Given the description of an element on the screen output the (x, y) to click on. 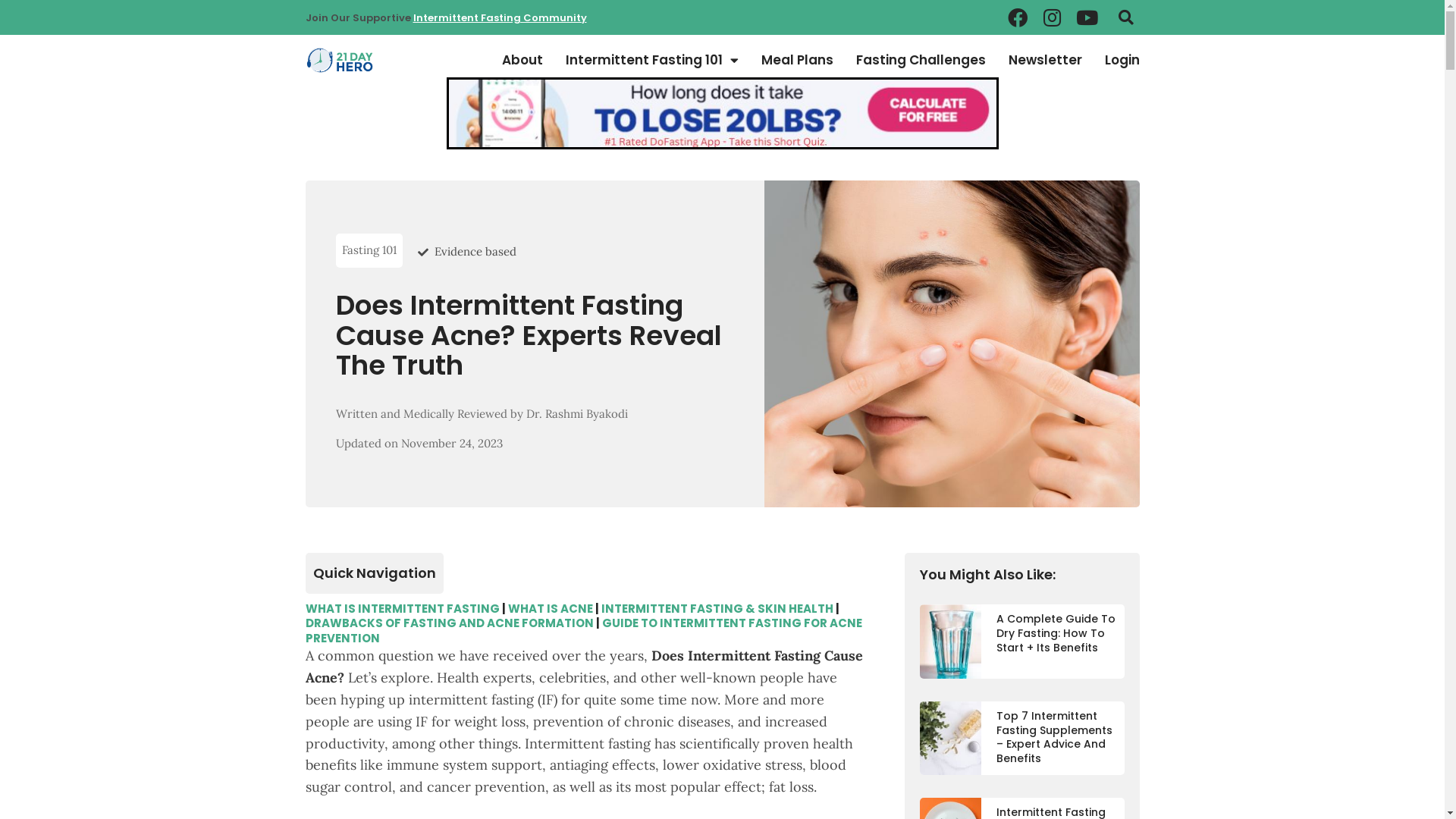
About Element type: text (522, 59)
Written and Medically Reviewed by Dr. Rashmi Byakodi Element type: text (481, 414)
GUIDE TO INTERMITTENT FASTING FOR ACNE PREVENTION Element type: text (582, 630)
Intermittent Fasting Community Element type: text (499, 17)
Fasting Challenges Element type: text (920, 59)
A Complete Guide To Dry Fasting: How To Start + Its Benefits Element type: text (1055, 633)
INTERMITTENT FASTING & SKIN HEALTH Element type: text (716, 608)
Intermittent Fasting 101 Element type: text (651, 59)
WHAT IS INTERMITTENT FASTING Element type: text (401, 608)
Newsletter Element type: text (1045, 59)
Login Element type: text (1121, 59)
DRAWBACKS OF FASTING AND ACNE FORMATION Element type: text (449, 622)
Meal Plans Element type: text (797, 59)
Fasting 101 Element type: text (368, 249)
WHAT IS ACNE Element type: text (550, 608)
